Given the description of an element on the screen output the (x, y) to click on. 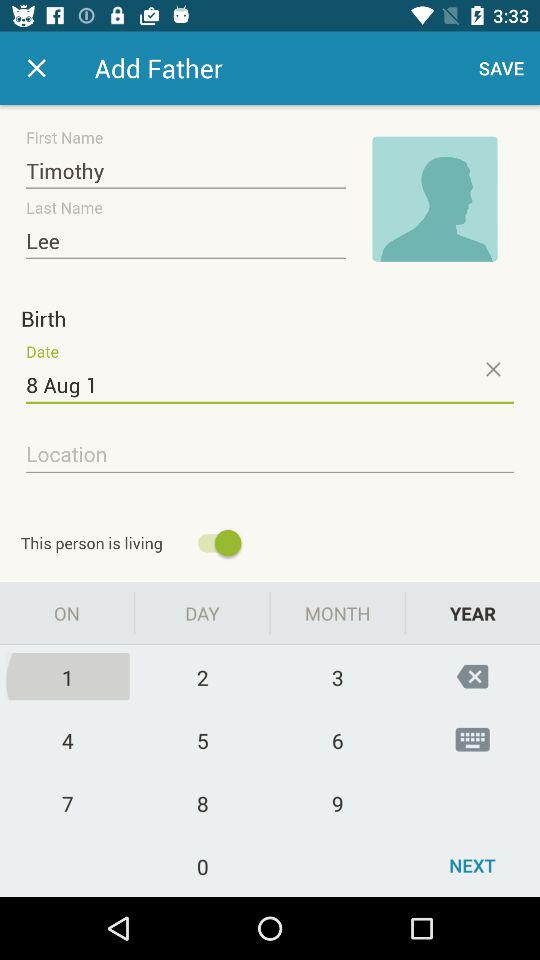
cancel button (492, 369)
